Given the description of an element on the screen output the (x, y) to click on. 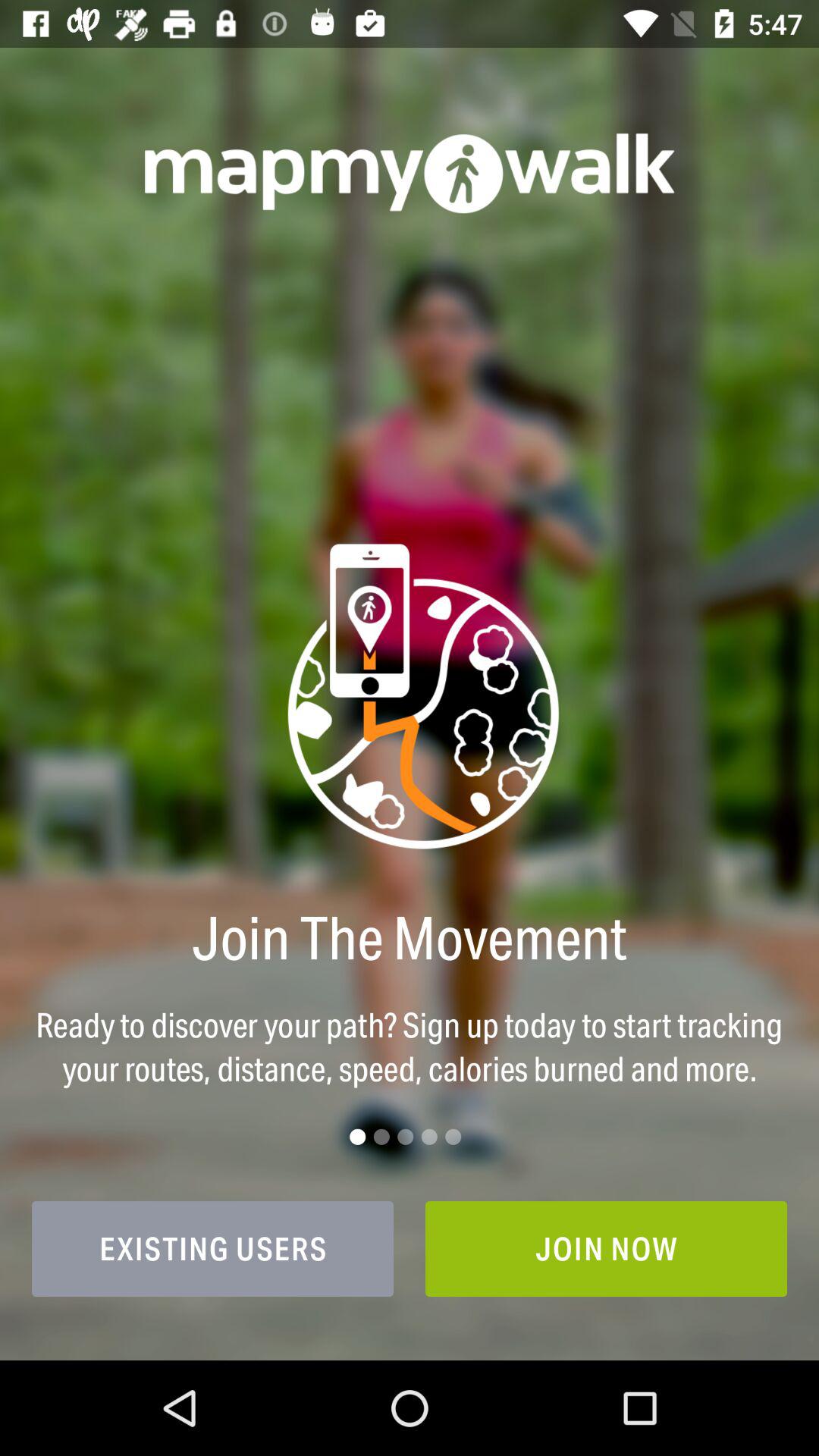
tap the item at the bottom left corner (212, 1248)
